Given the description of an element on the screen output the (x, y) to click on. 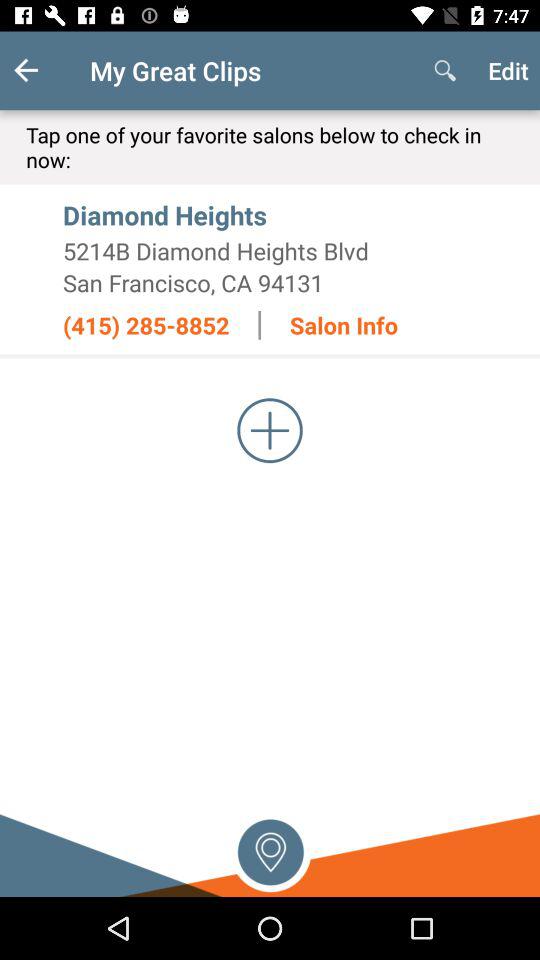
use current location (270, 850)
